Given the description of an element on the screen output the (x, y) to click on. 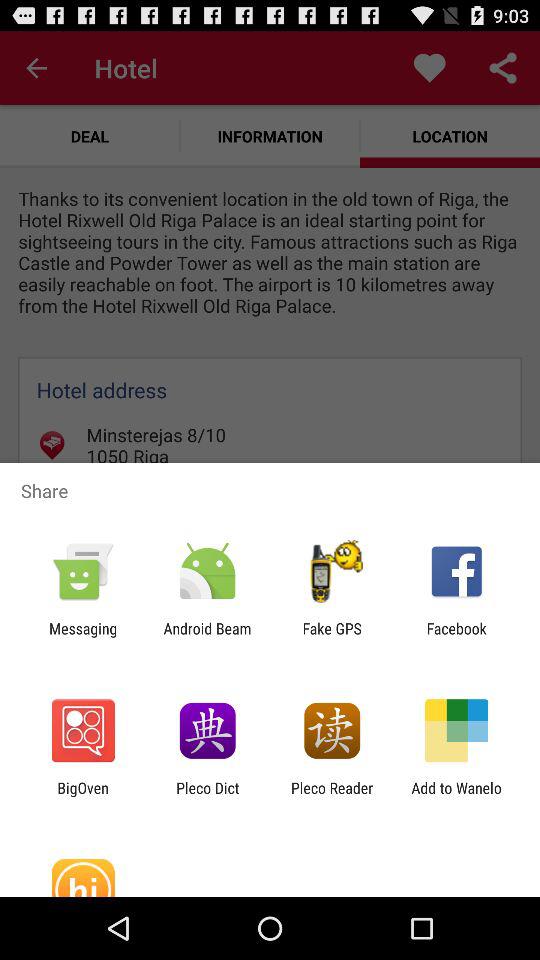
open the icon next to the android beam app (83, 637)
